Given the description of an element on the screen output the (x, y) to click on. 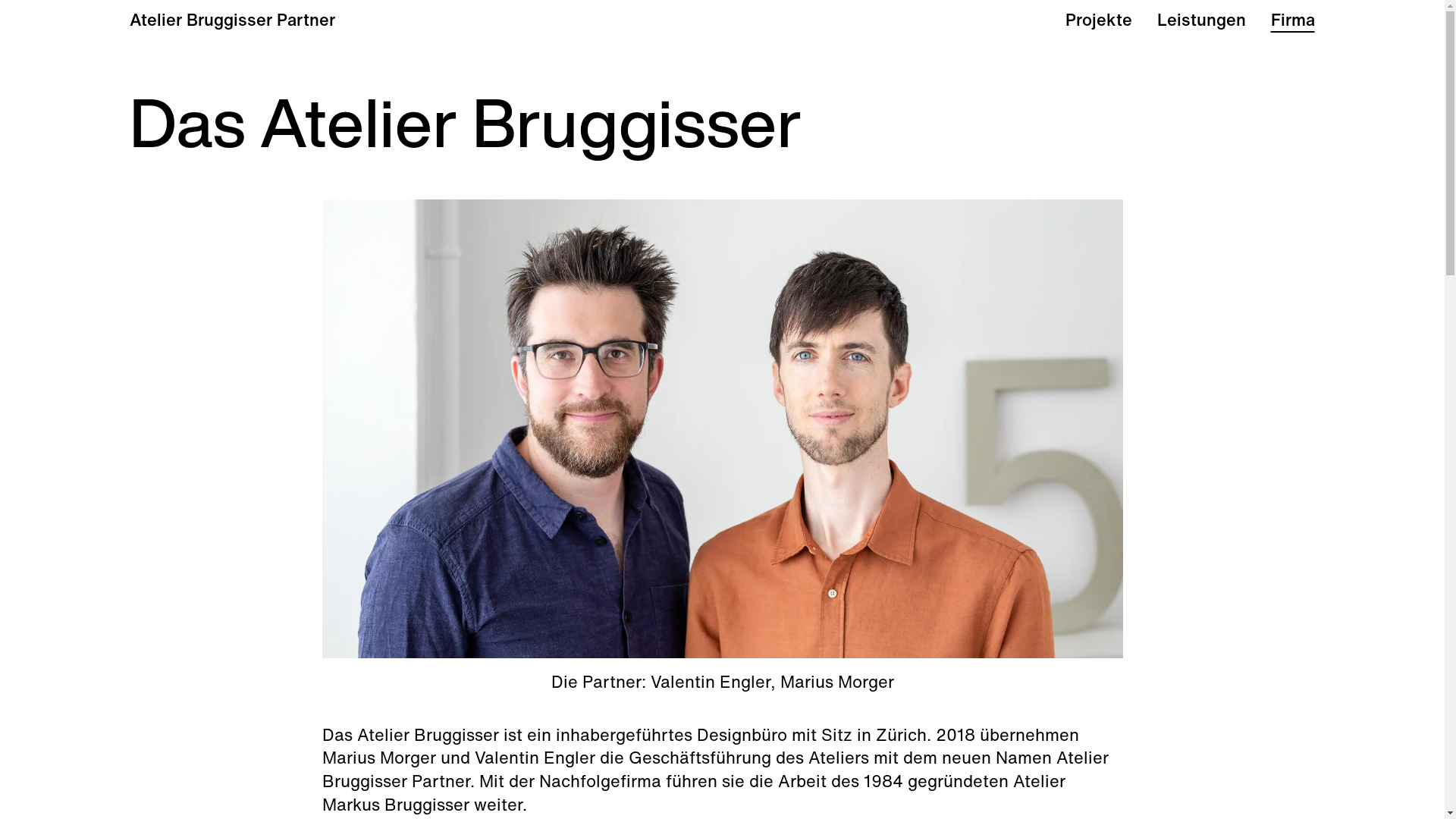
Leistungen Element type: text (1201, 19)
Projekte Element type: text (1098, 19)
Firma Element type: text (1292, 19)
Atelier Bruggisser Partner Element type: text (232, 19)
